Given the description of an element on the screen output the (x, y) to click on. 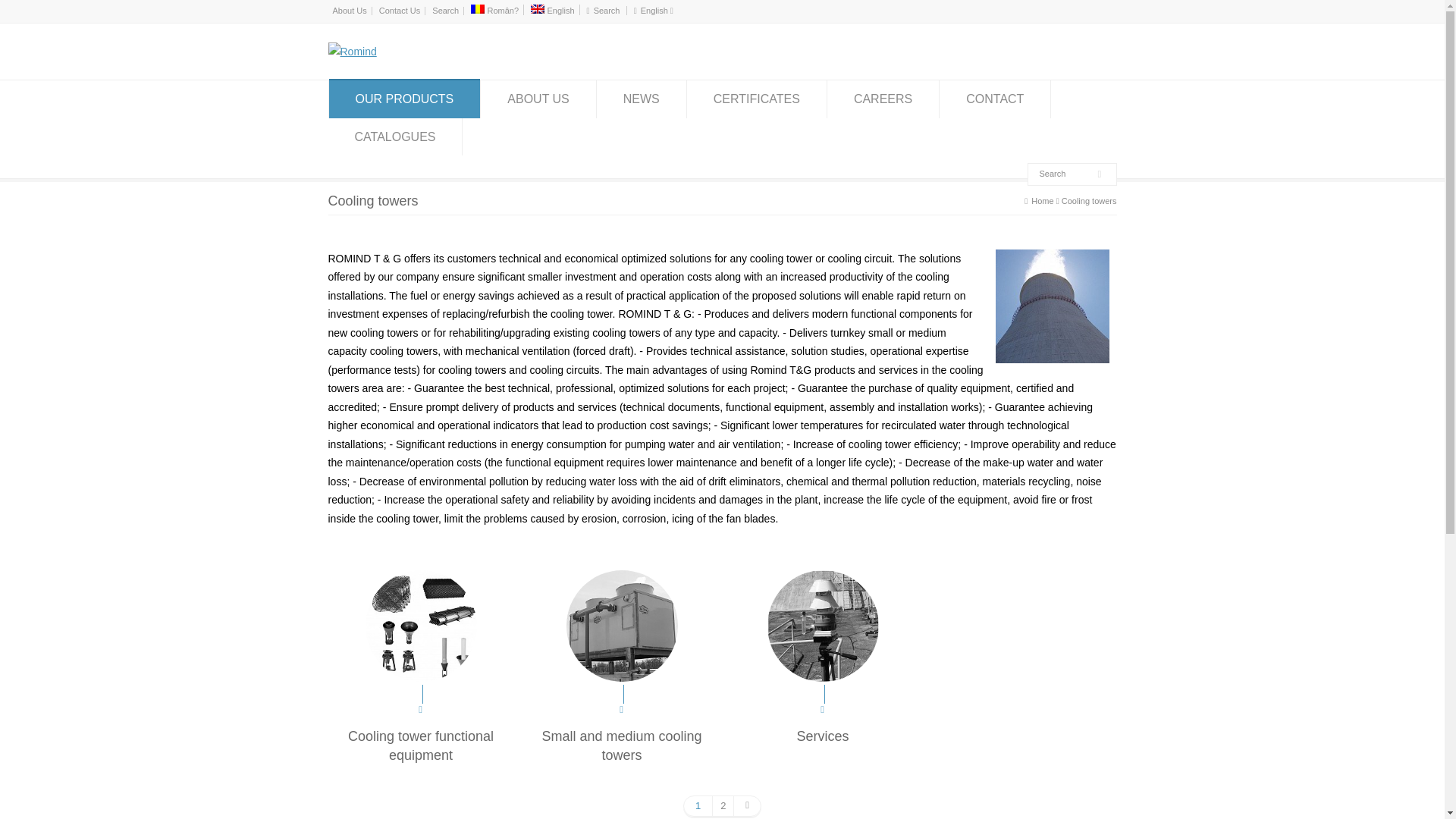
Contact Us (399, 10)
English (537, 8)
Vezi produsele (421, 625)
Vezi produsele (823, 625)
Vezi produsele (621, 625)
Search (1063, 173)
English (552, 10)
Search (1063, 173)
Search (445, 10)
Romind (351, 51)
